Given the description of an element on the screen output the (x, y) to click on. 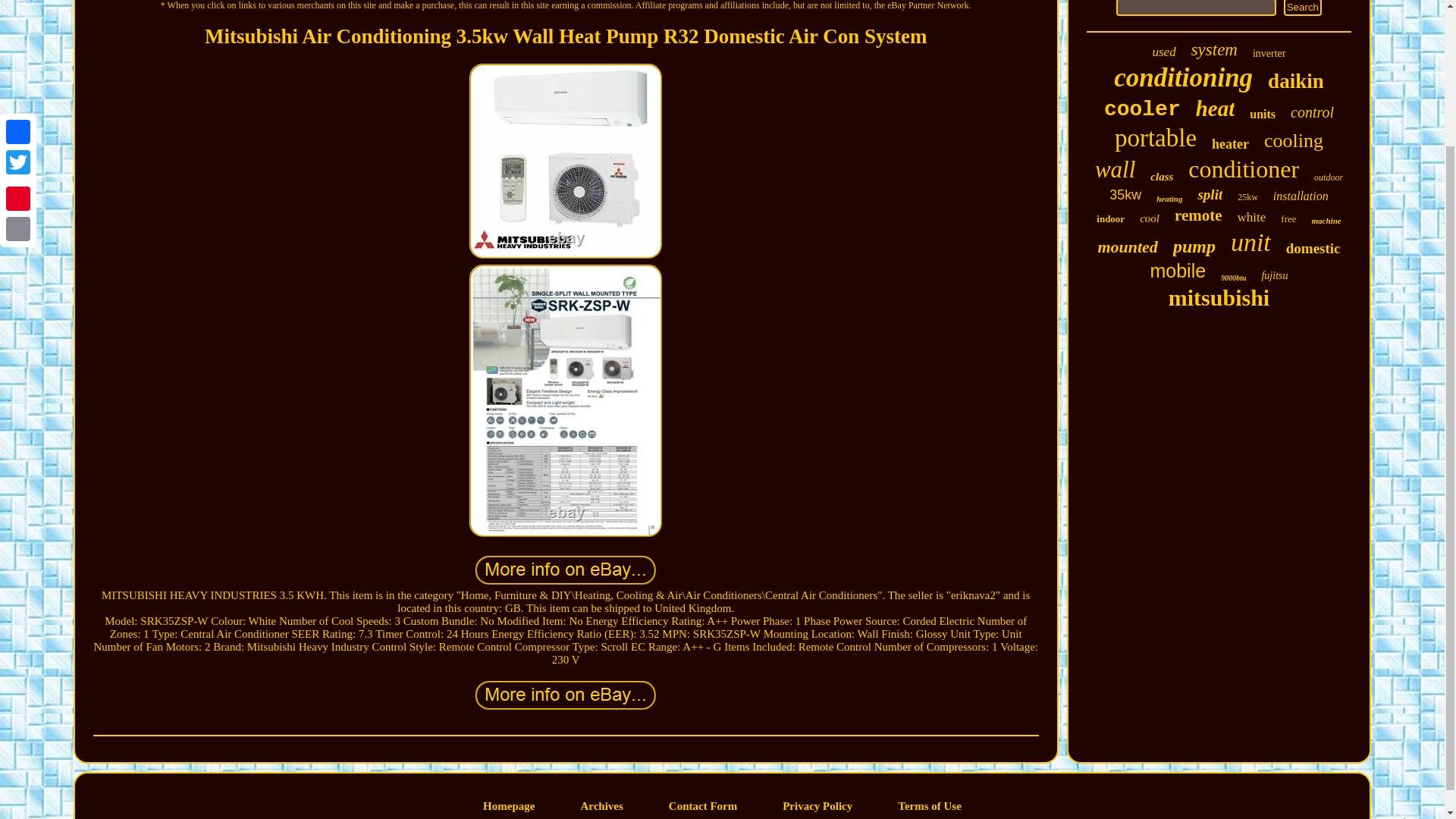
portable (1155, 138)
indoor (1110, 218)
system (1214, 49)
class (1161, 176)
outdoor (1328, 177)
heat (1214, 108)
heating (1169, 198)
25kw (1247, 197)
heater (1230, 144)
wall (1114, 169)
split (1209, 194)
daikin (1295, 81)
